Given the description of an element on the screen output the (x, y) to click on. 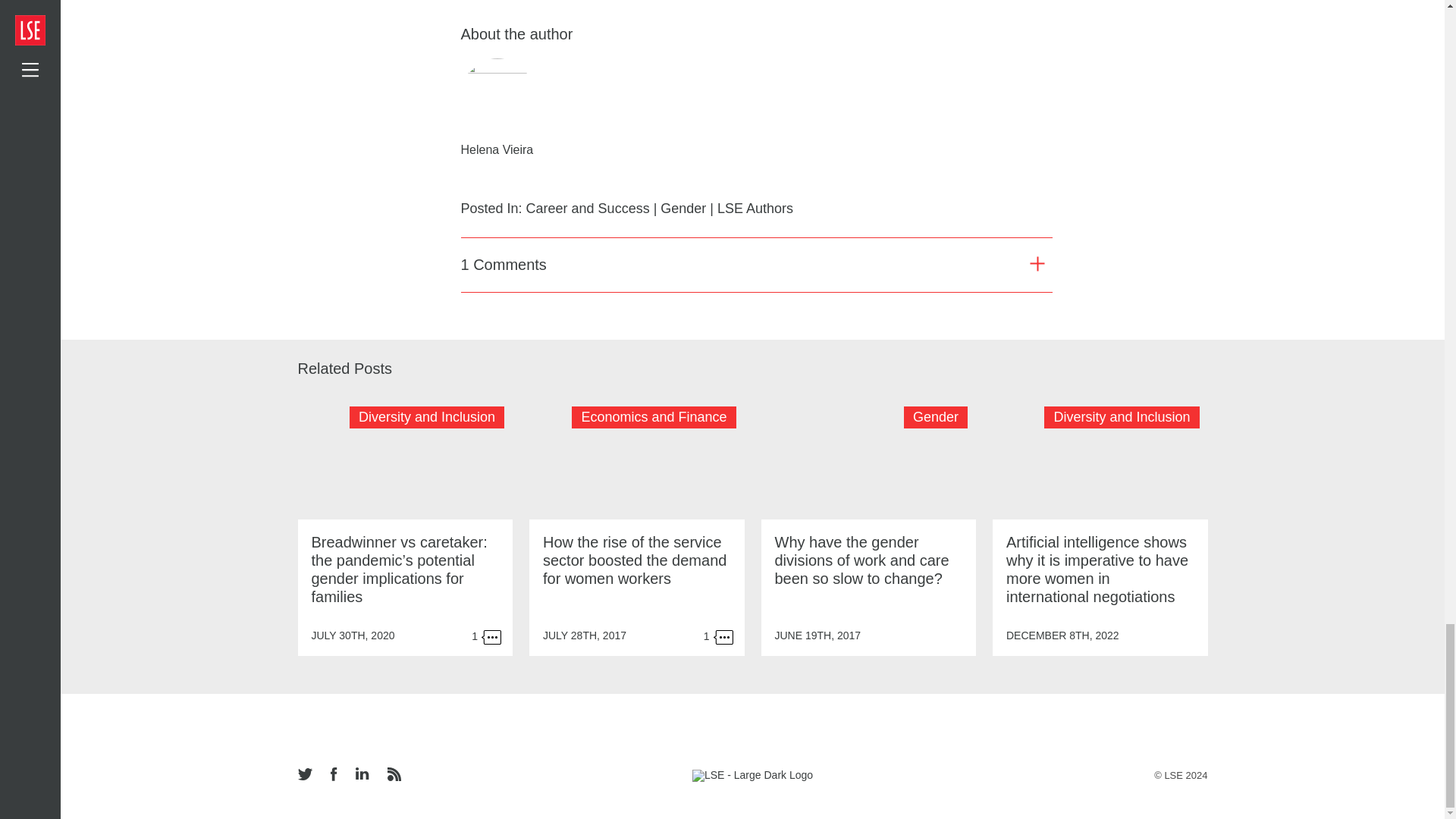
linkedin (361, 774)
Post Comment (1006, 693)
rss (393, 775)
